Given the description of an element on the screen output the (x, y) to click on. 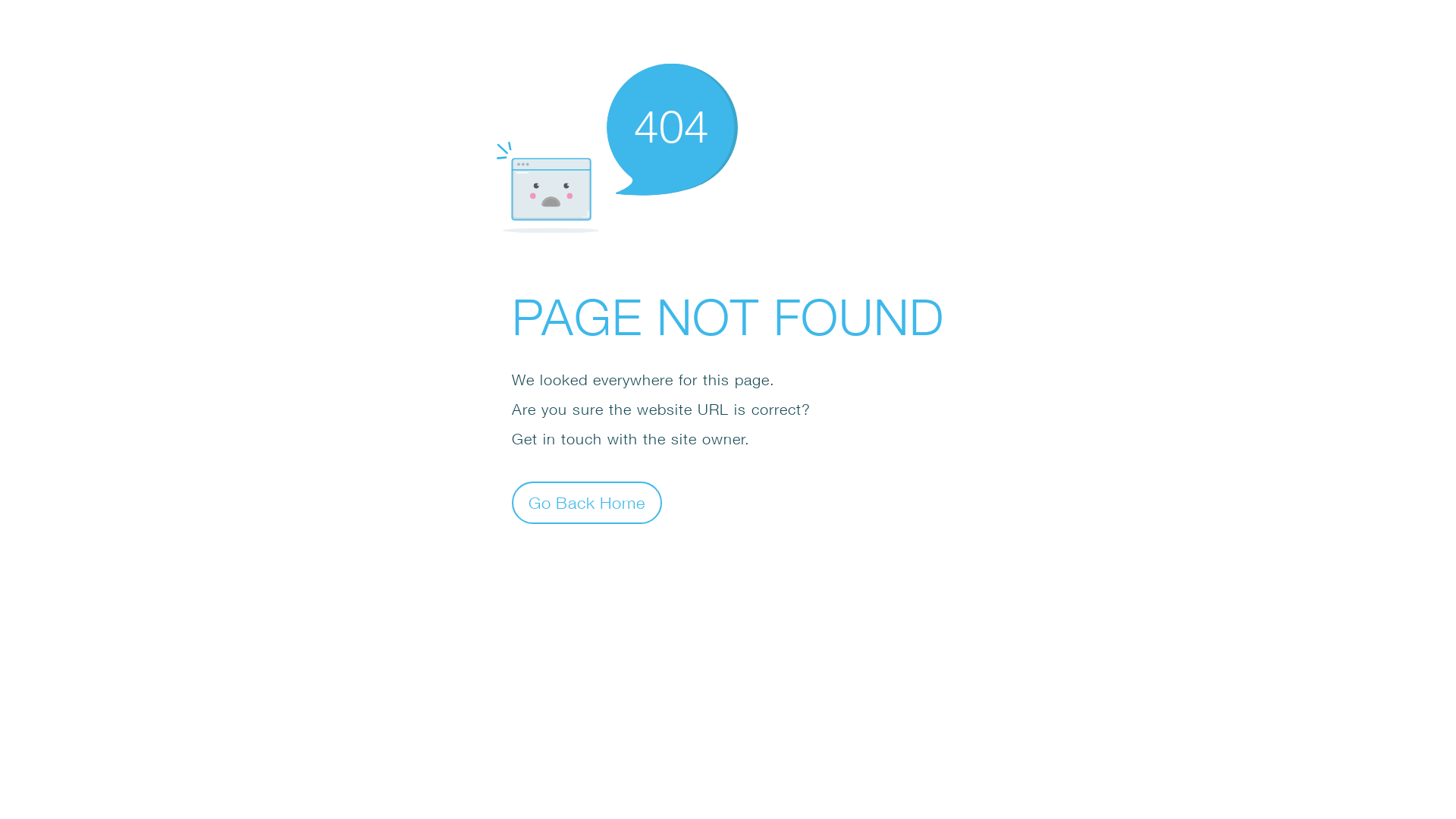
Go Back Home Element type: text (586, 502)
